Given the description of an element on the screen output the (x, y) to click on. 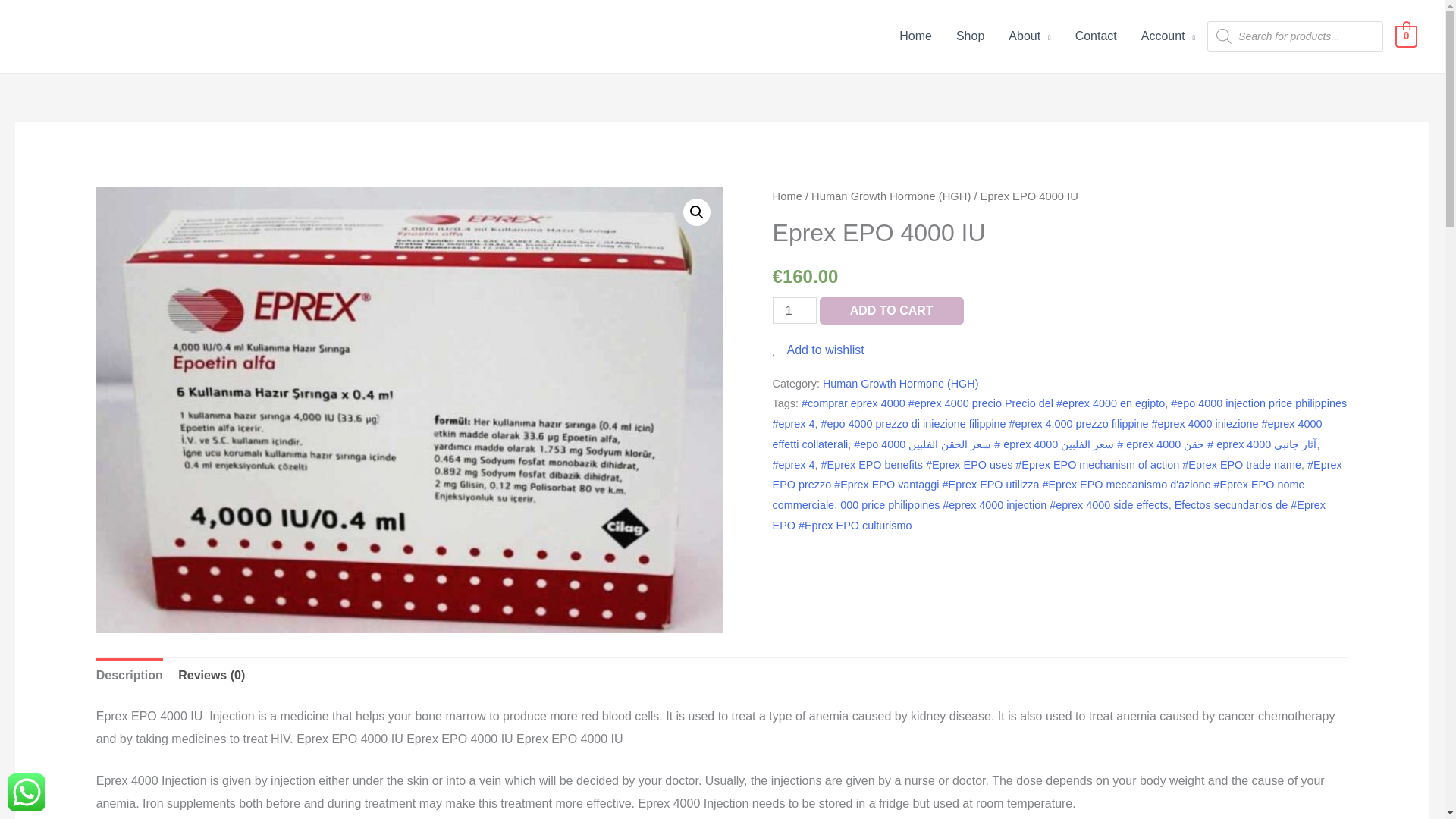
Qty (794, 310)
Description (129, 675)
Add to wishlist (818, 349)
Contact (1095, 36)
About (1028, 36)
1 (794, 310)
Home (914, 36)
Shop (969, 36)
